Given the description of an element on the screen output the (x, y) to click on. 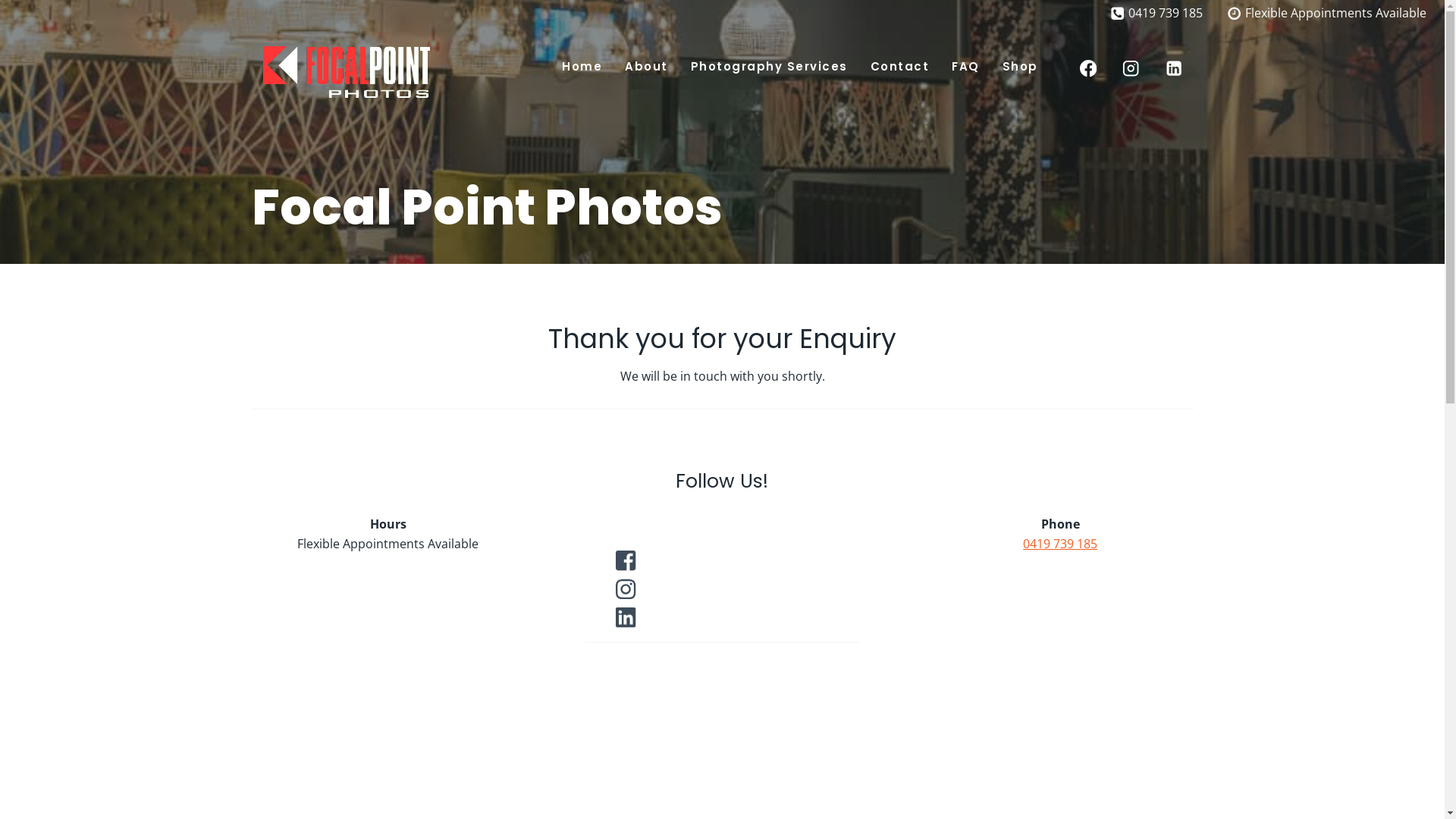
FAQ Element type: text (965, 65)
Home Element type: text (581, 65)
Photography Services Element type: text (769, 65)
Shop Element type: text (1020, 65)
0419 739 185 Element type: text (1059, 543)
Contact Element type: text (900, 65)
About Element type: text (646, 65)
0419 739 185 Element type: text (1156, 13)
